Given the description of an element on the screen output the (x, y) to click on. 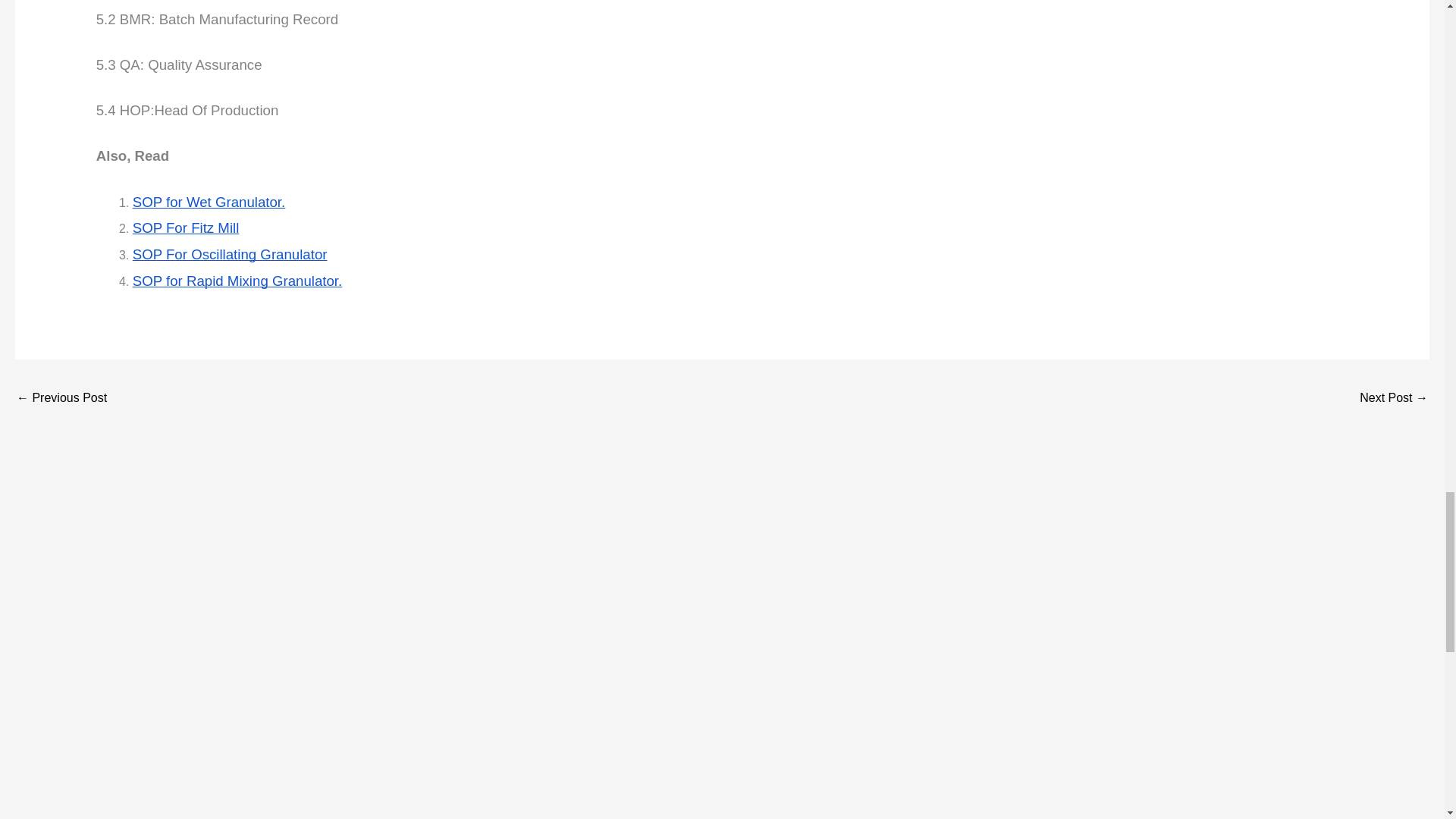
SOP for Rapid Mixing Granulator. (237, 280)
SOP For Oscillating Granulator (229, 254)
SOP For Homogenizer (61, 398)
SOP For Dehumidifier (1393, 398)
SOP for Wet Granulator. (208, 201)
SOP For Fitz Mill (186, 227)
